Given the description of an element on the screen output the (x, y) to click on. 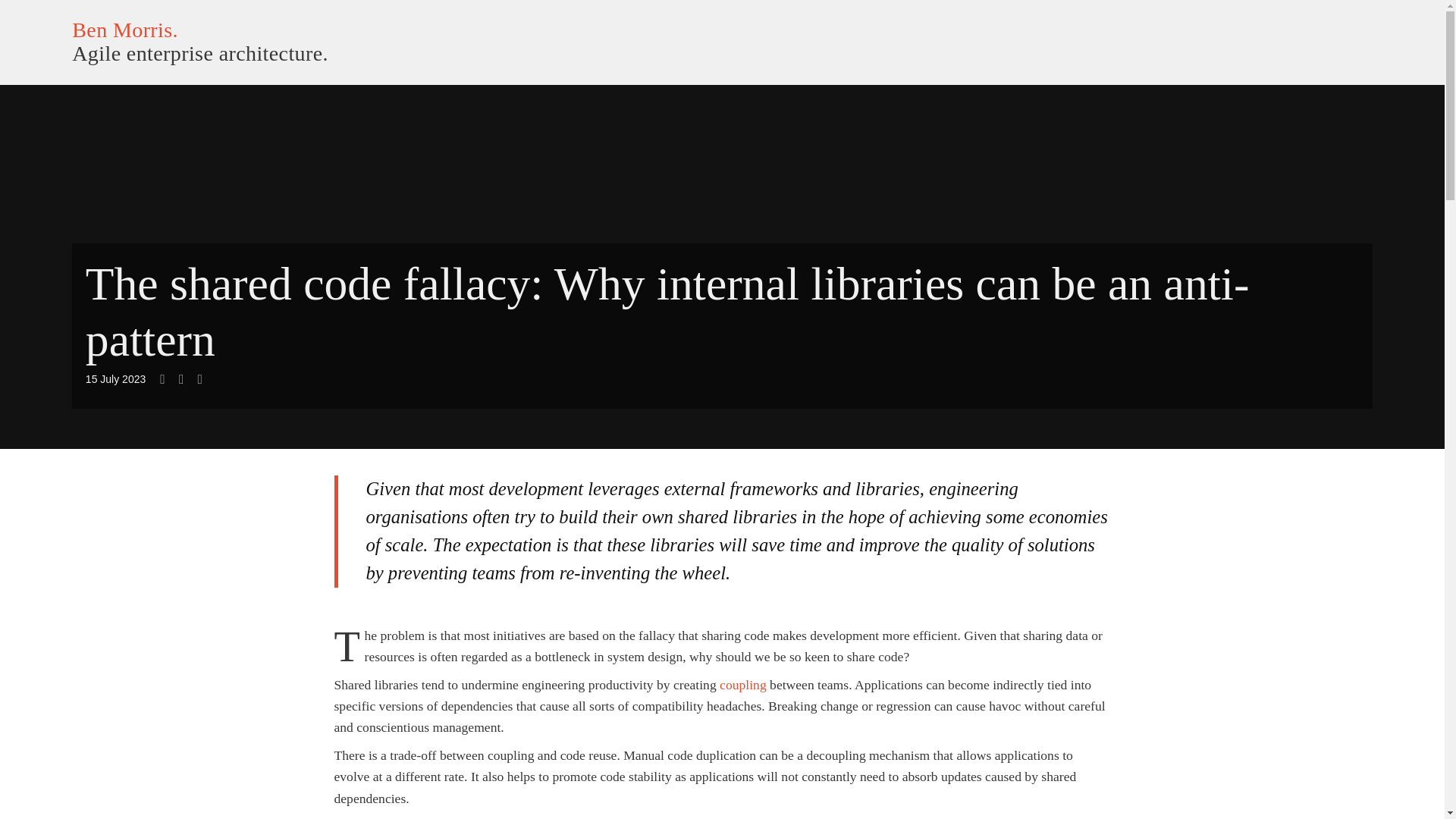
coupling (743, 684)
Ben Morris. (124, 29)
